Given the description of an element on the screen output the (x, y) to click on. 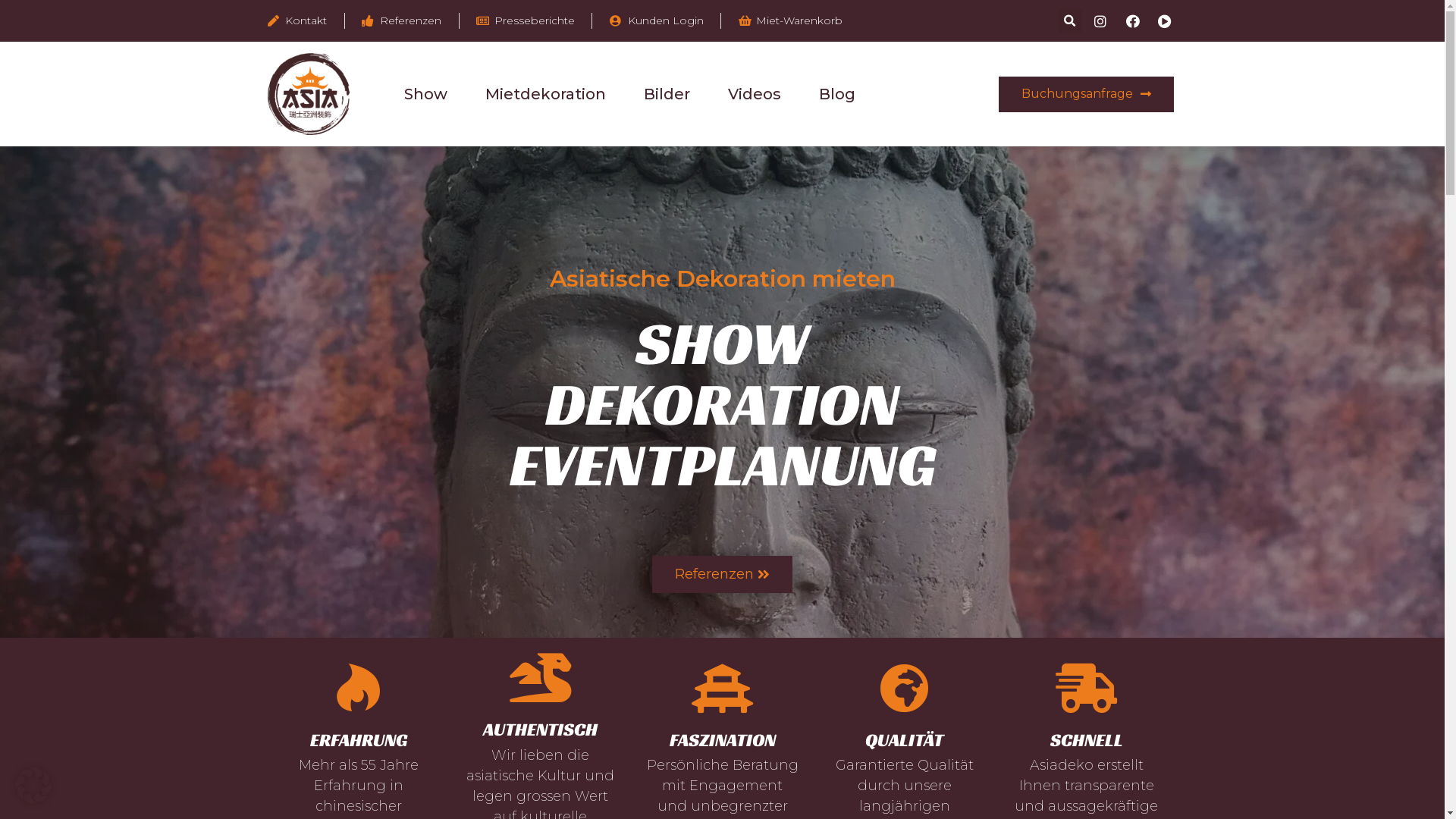
Buchungsanfrage Element type: text (1085, 93)
Blog Element type: text (837, 93)
Videos Element type: text (754, 93)
Mietdekoration Element type: text (545, 93)
Referenzen Element type: text (401, 20)
Kunden Login Element type: text (656, 20)
Bilder Element type: text (666, 93)
Presseberichte Element type: text (525, 20)
Show Element type: text (424, 93)
Referenzen Element type: text (722, 573)
Miet-Warenkorb Element type: text (790, 20)
Kontakt Element type: text (296, 20)
